Given the description of an element on the screen output the (x, y) to click on. 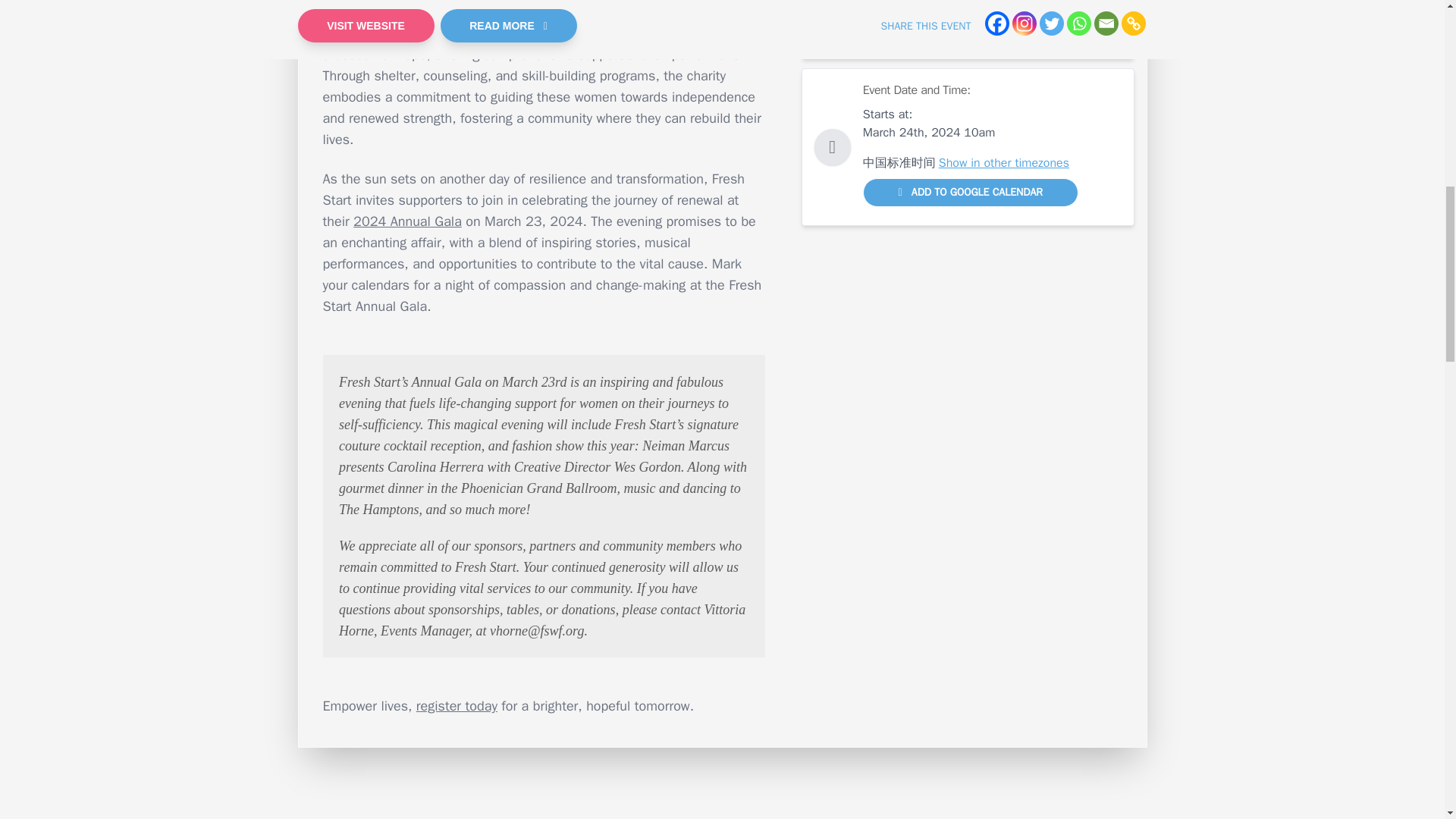
United States (899, 37)
AZ (933, 18)
2024 Annual Gala (407, 221)
register today (456, 705)
Scottsdale (890, 18)
Fresh Start (667, 33)
Show in other timezones (1003, 162)
ADD TO GOOGLE CALENDAR (970, 192)
